Given the description of an element on the screen output the (x, y) to click on. 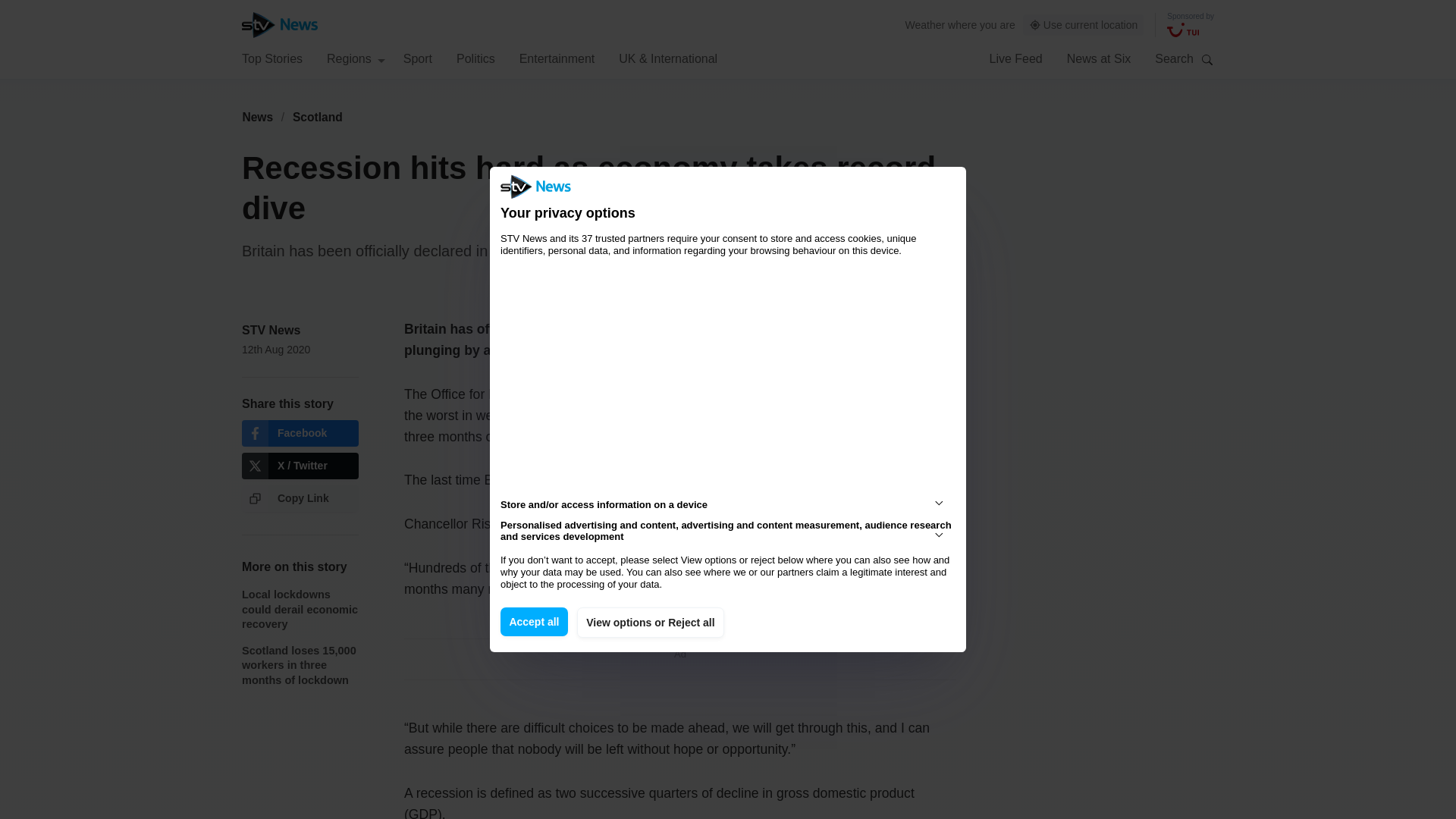
Scotland (317, 116)
Entertainment (557, 57)
Use current location (1083, 25)
Search (1206, 59)
Facebook (299, 433)
Politics (476, 57)
Weather (924, 24)
News at Six (1099, 57)
Live Feed (1015, 57)
